Given the description of an element on the screen output the (x, y) to click on. 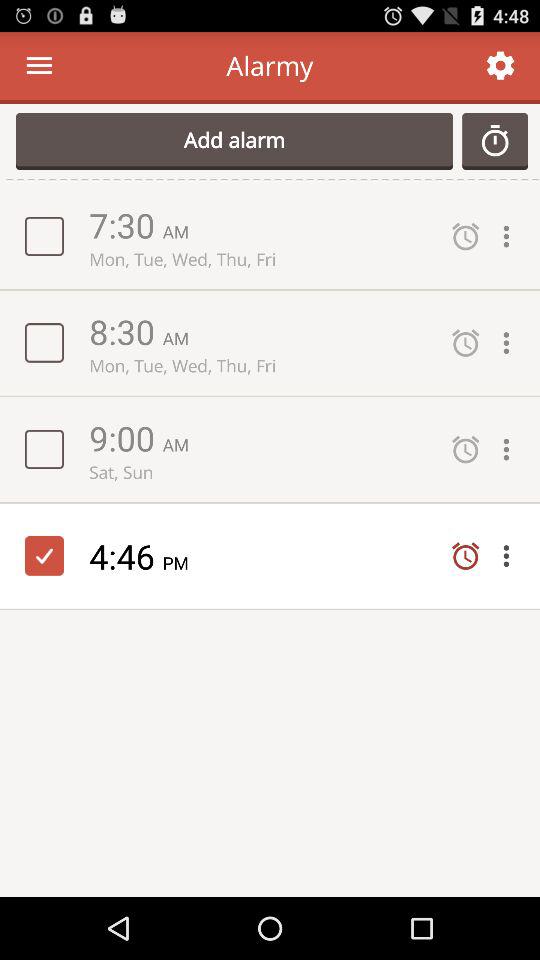
add an alarm (495, 141)
